Given the description of an element on the screen output the (x, y) to click on. 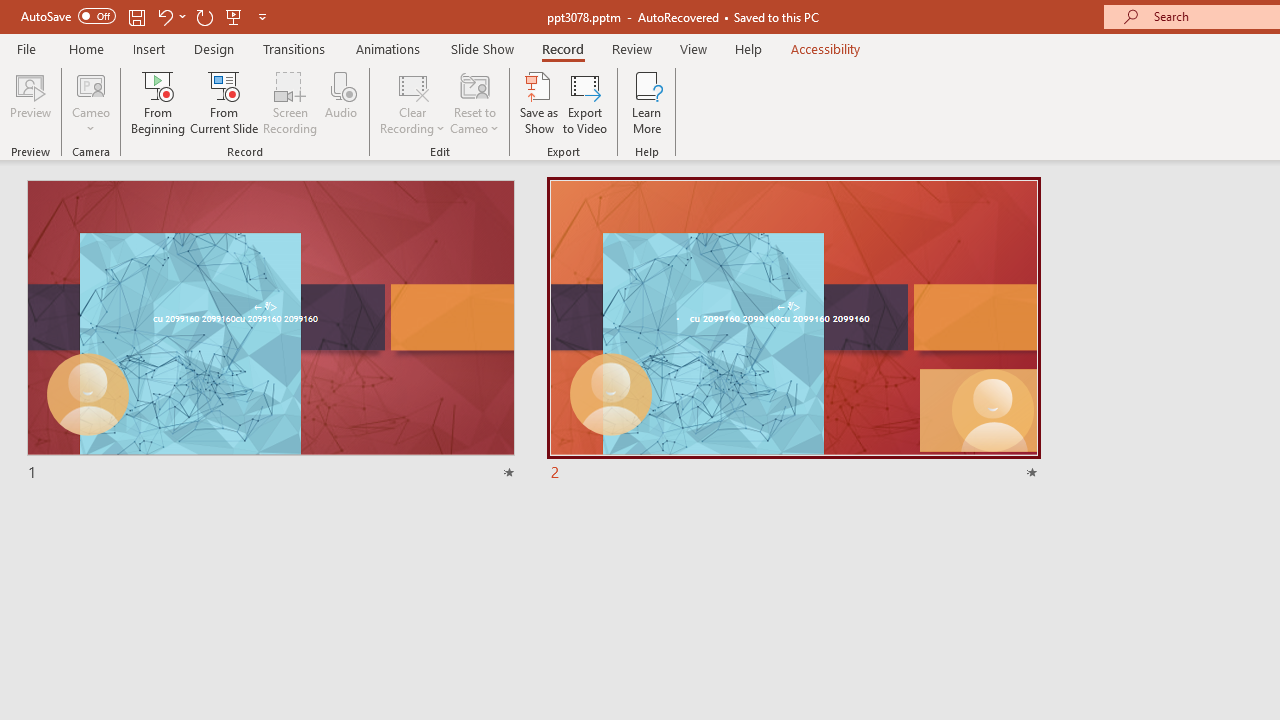
Export to Video (585, 102)
Reset to Cameo (474, 102)
